Given the description of an element on the screen output the (x, y) to click on. 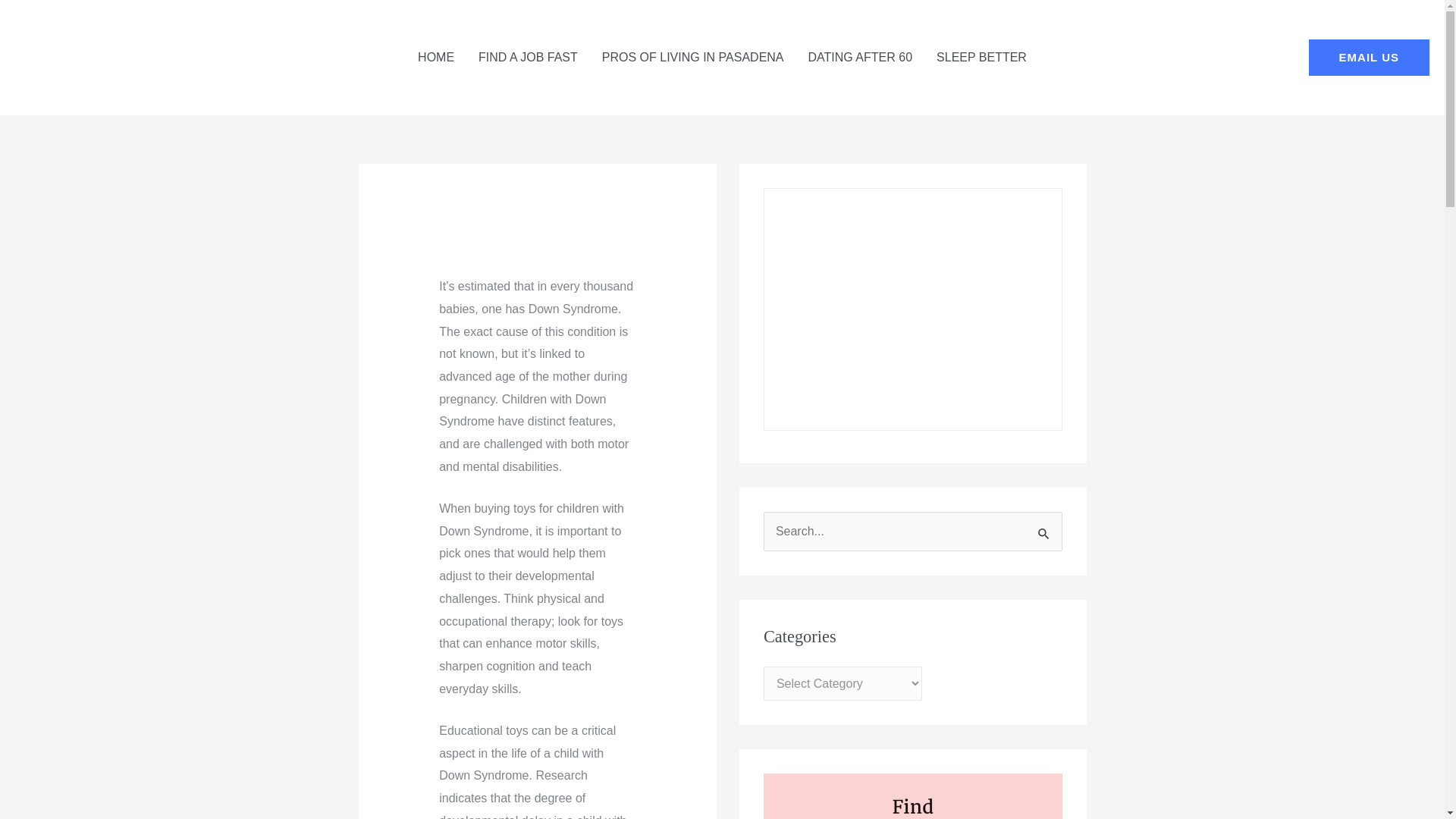
SLEEP BETTER (981, 57)
EMAIL US (1368, 57)
DATING AFTER 60 (860, 57)
FIND A JOB FAST (527, 57)
PROS OF LIVING IN PASADENA (692, 57)
